Given the description of an element on the screen output the (x, y) to click on. 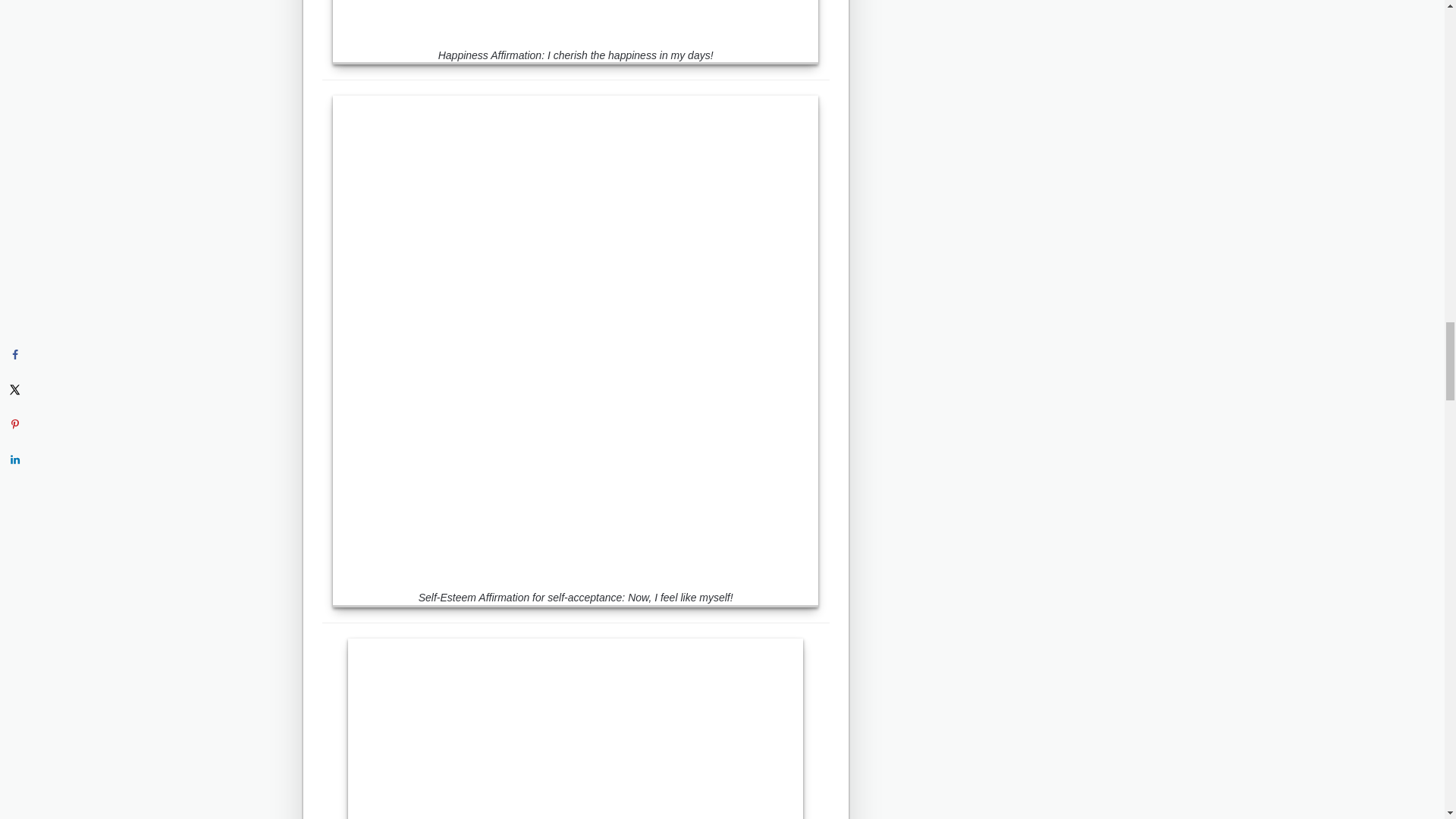
I cherish the happiness in my days! (575, 19)
I am pure love! I am happiness! (575, 728)
